Given the description of an element on the screen output the (x, y) to click on. 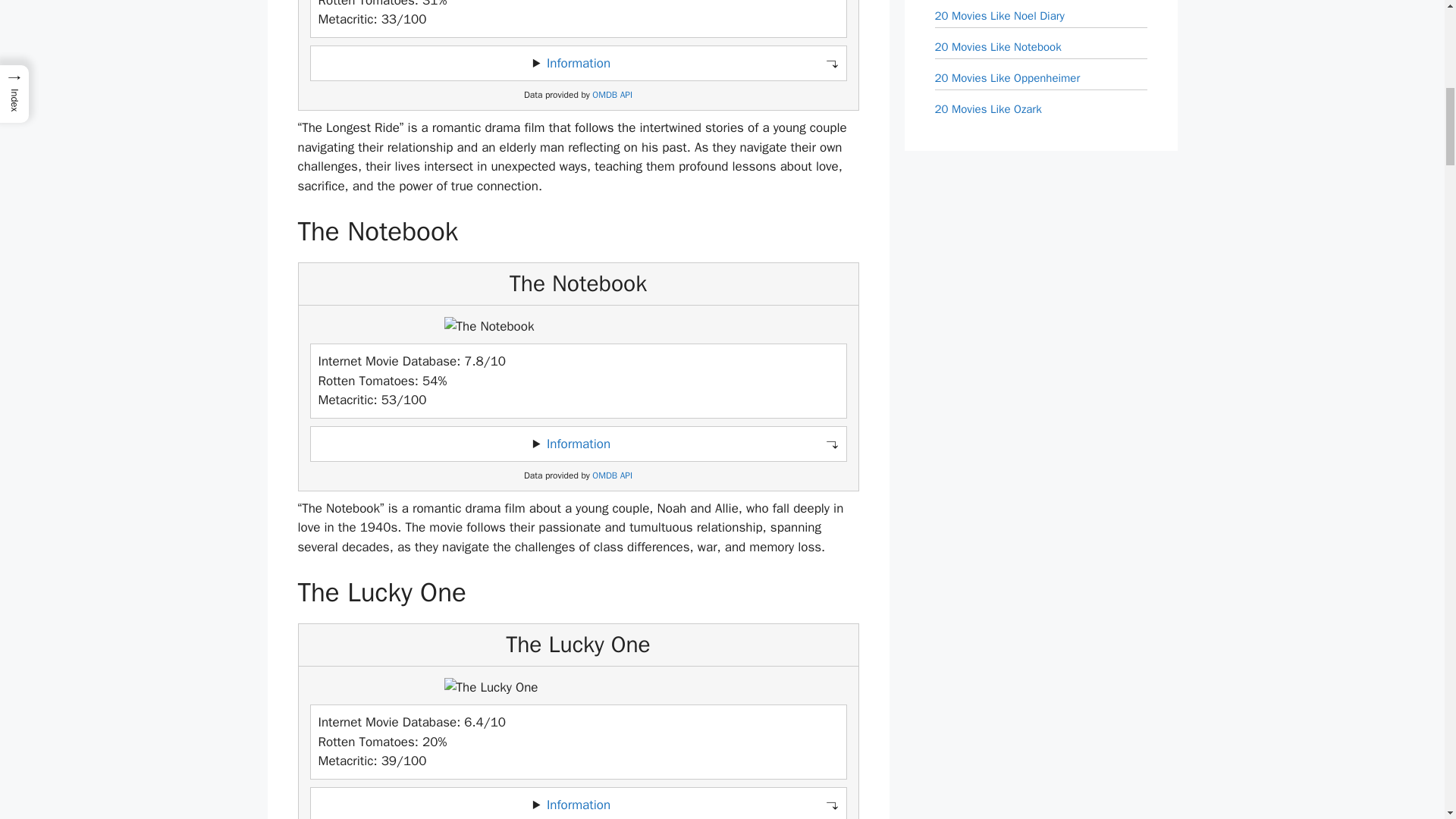
Toggle information (578, 63)
OMDB API (611, 94)
Information (578, 63)
Open Movie Database API (611, 94)
Open Movie Database API (611, 475)
Toggle information (578, 443)
Toggle information (578, 803)
OMDB API (611, 475)
Information (578, 804)
Information (578, 442)
